Given the description of an element on the screen output the (x, y) to click on. 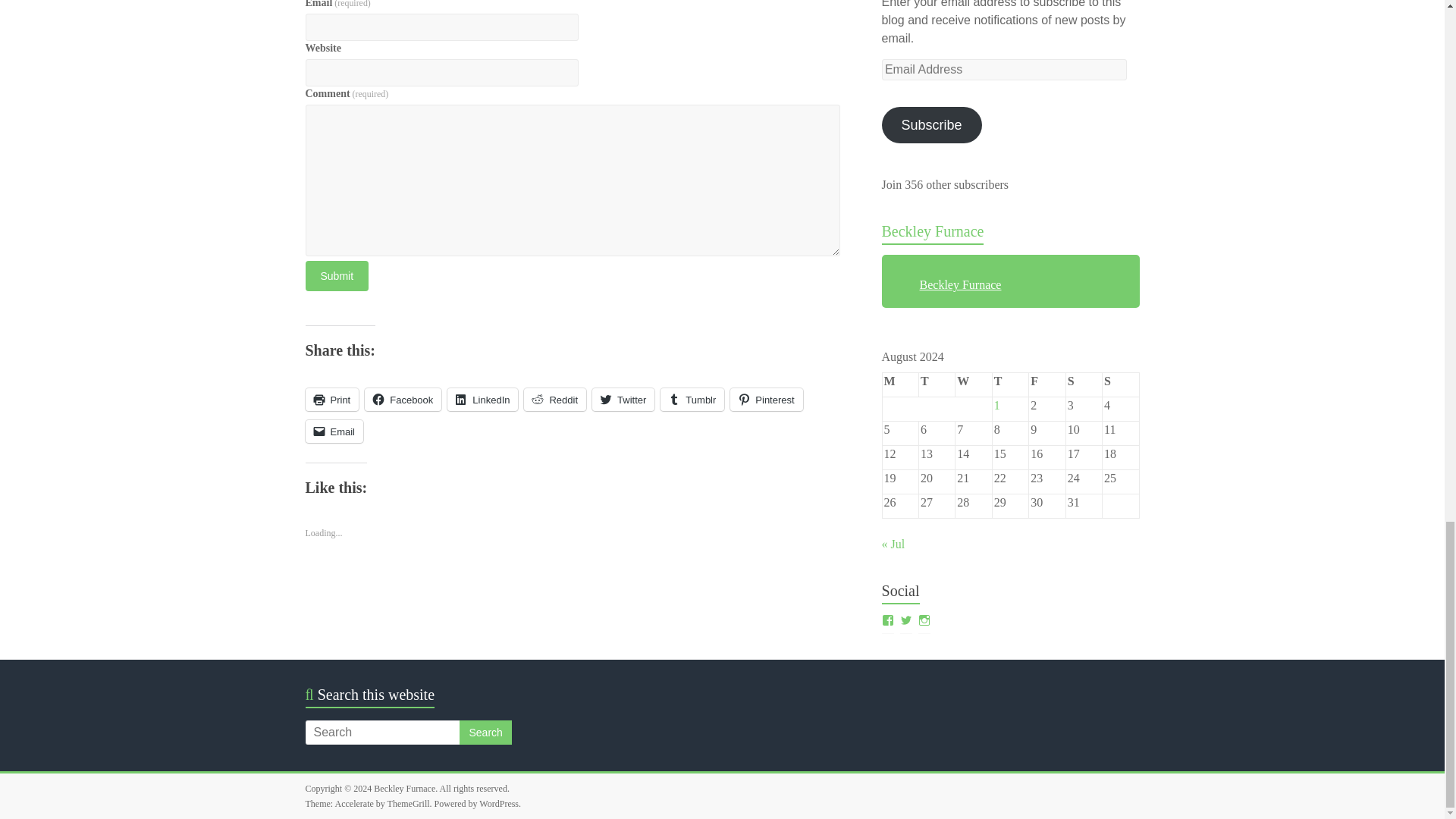
Click to print (331, 399)
Click to share on Facebook (403, 399)
Click to share on Pinterest (766, 399)
Monday (900, 385)
Search (485, 732)
Tuesday (936, 385)
Click to share on Twitter (622, 399)
Click to email a link to a friend (333, 431)
Click to share on Tumblr (692, 399)
Click to share on Reddit (555, 399)
Click to share on LinkedIn (482, 399)
